Given the description of an element on the screen output the (x, y) to click on. 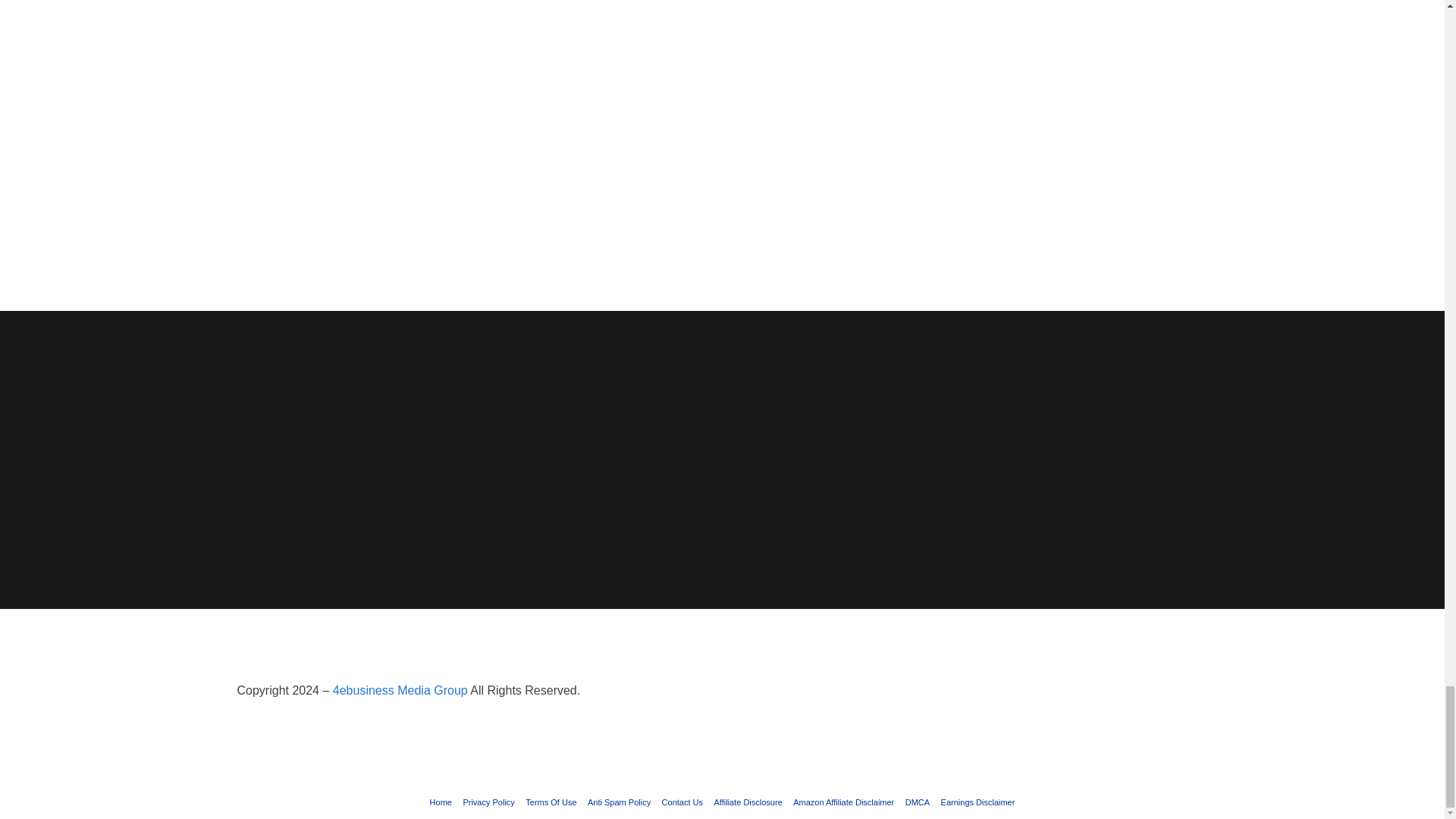
Follow on RSS (1194, 693)
Follow on Youtube (1164, 693)
Follow on Pinterest (1104, 693)
Follow on LinkedIn (1134, 693)
Follow on Facebook (1042, 693)
Follow on X (1073, 693)
